Given the description of an element on the screen output the (x, y) to click on. 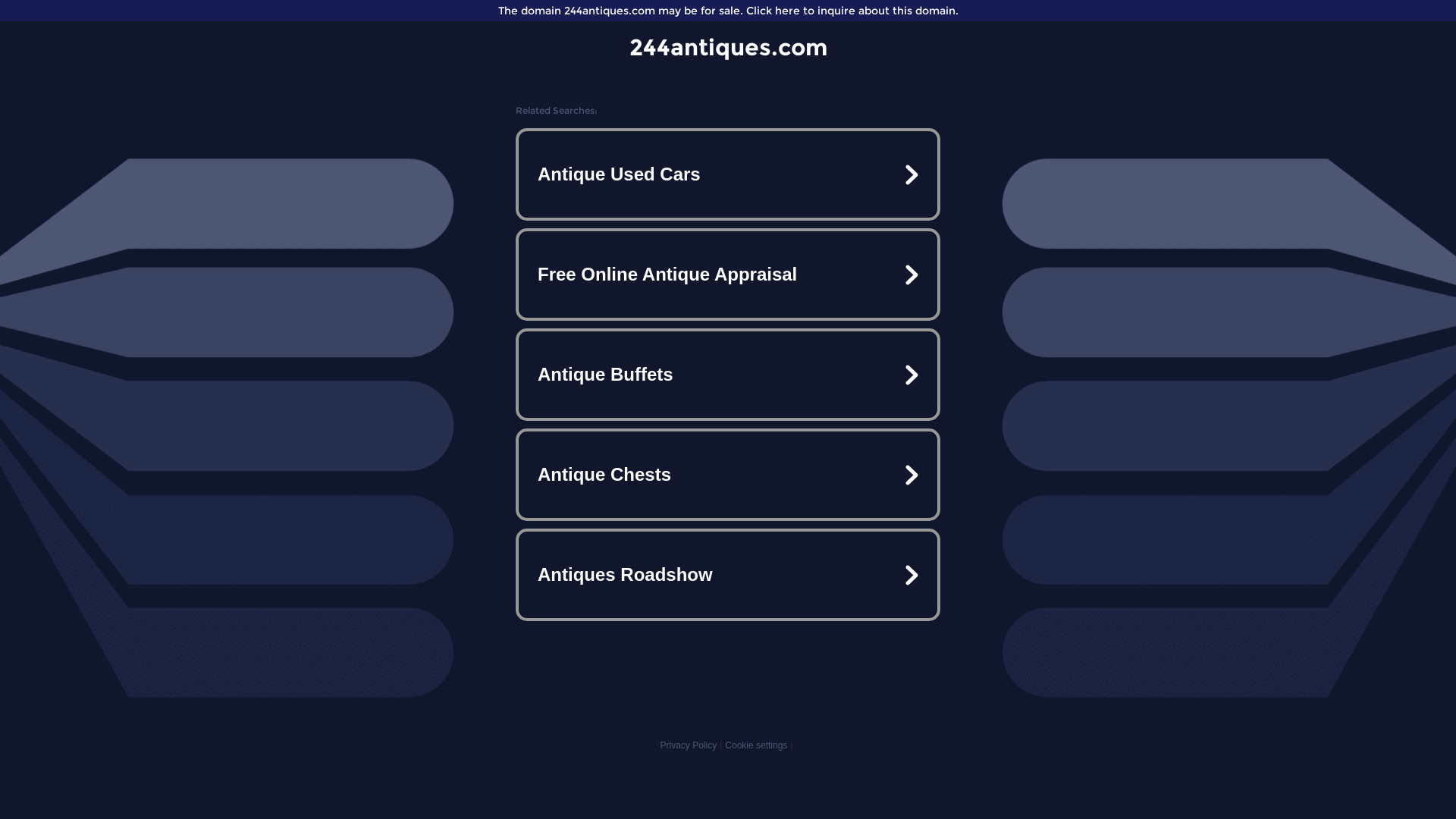
Antique Buffets Element type: text (727, 374)
Privacy Policy Element type: text (687, 745)
Antique Used Cars Element type: text (727, 174)
Cookie settings Element type: text (755, 745)
Free Online Antique Appraisal Element type: text (727, 274)
Antique Chests Element type: text (727, 474)
244antiques.com Element type: text (728, 47)
Antiques Roadshow Element type: text (727, 574)
